Given the description of an element on the screen output the (x, y) to click on. 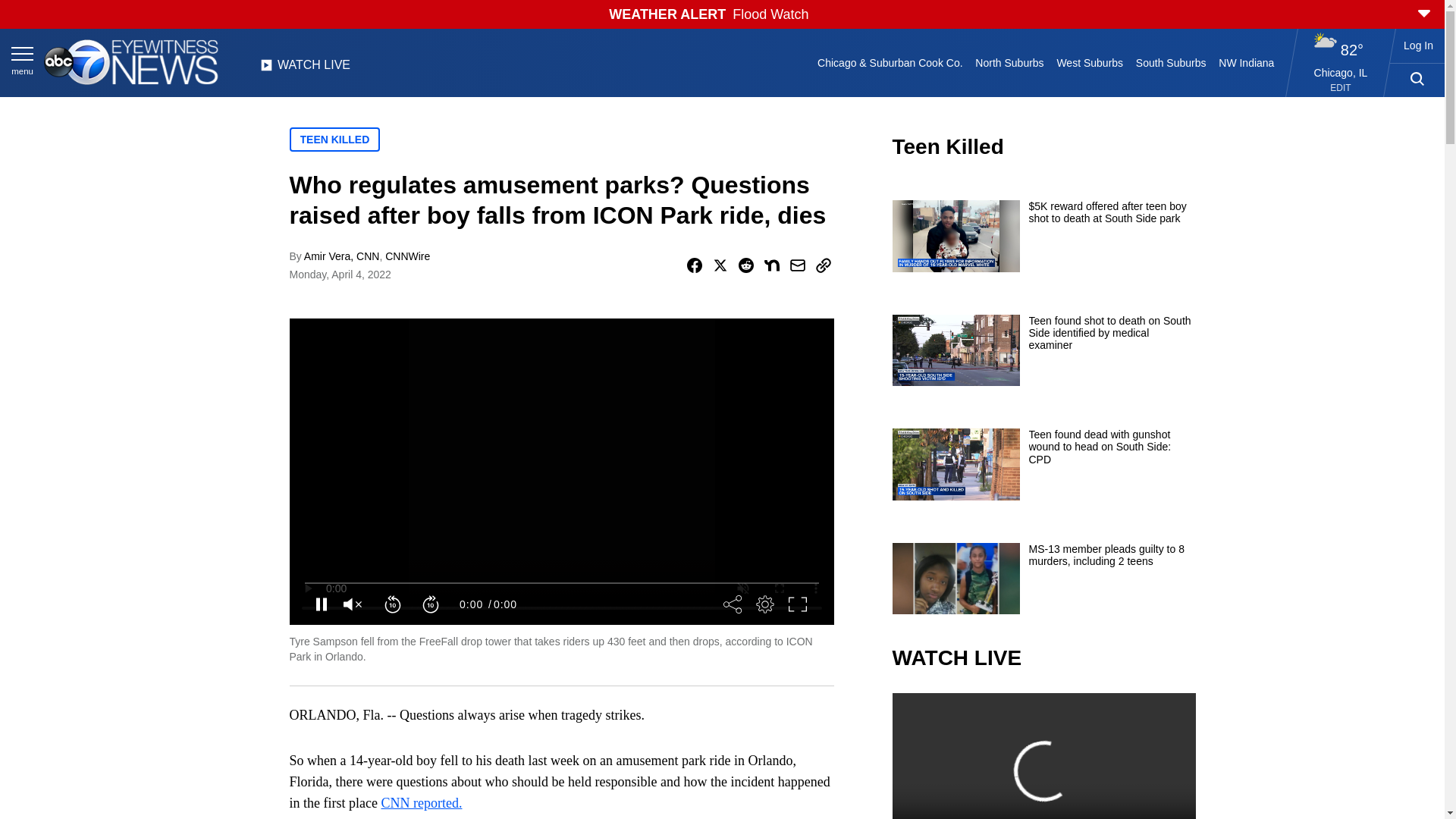
Chicago, IL (1340, 72)
North Suburbs (1009, 62)
West Suburbs (1089, 62)
video.title (1043, 755)
EDIT (1340, 87)
WATCH LIVE (305, 69)
NW Indiana (1246, 62)
South Suburbs (1170, 62)
